Given the description of an element on the screen output the (x, y) to click on. 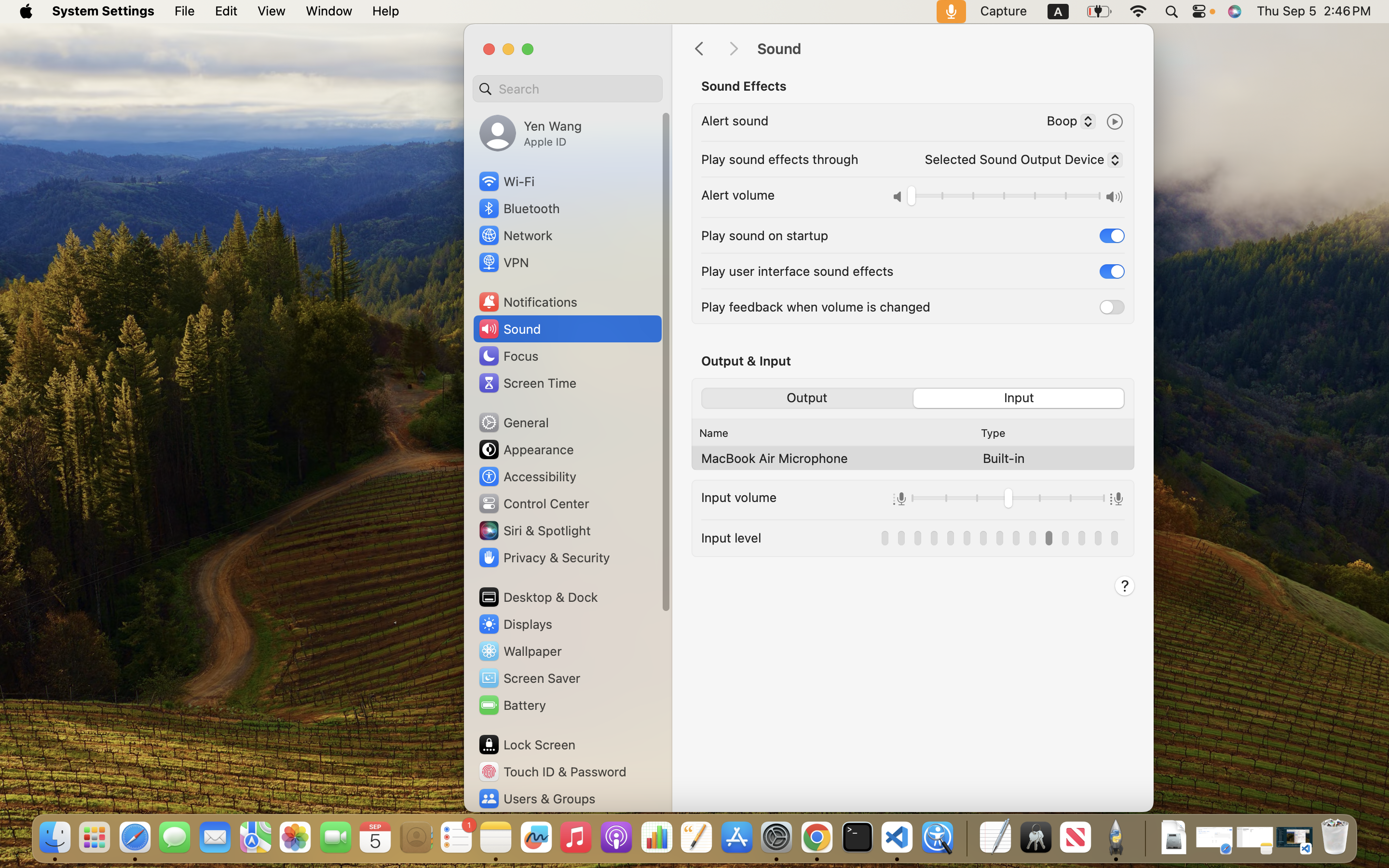
Input volume Element type: AXStaticText (738, 496)
Focus Element type: AXStaticText (507, 355)
Screen Saver Element type: AXStaticText (528, 677)
Wallpaper Element type: AXStaticText (519, 650)
VPN Element type: AXStaticText (502, 261)
